Given the description of an element on the screen output the (x, y) to click on. 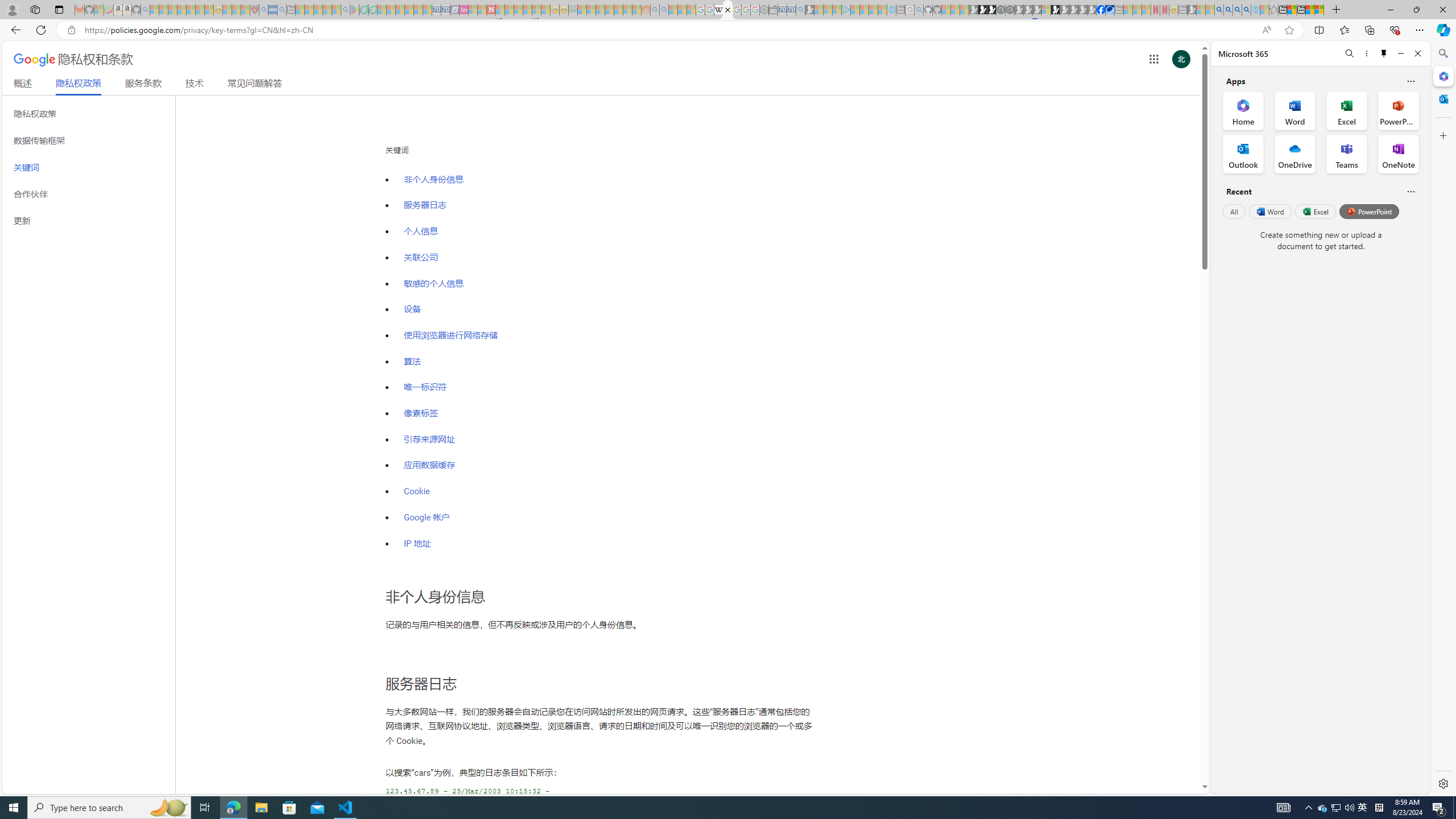
MSN - Sleeping (1191, 9)
Excel (1315, 210)
